Given the description of an element on the screen output the (x, y) to click on. 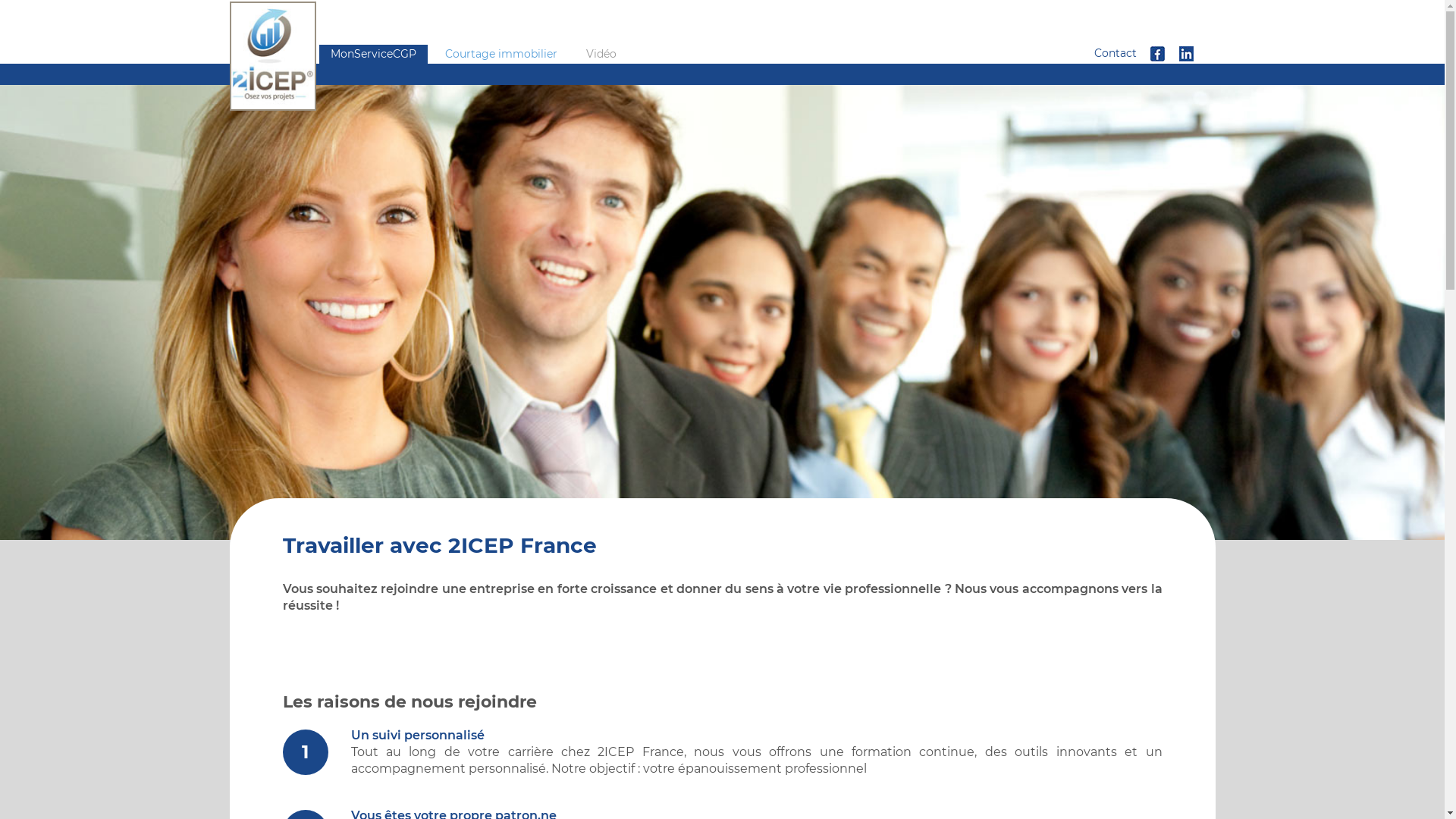
Courtage immobilier Element type: text (501, 53)
Contact Element type: text (1115, 52)
MonServiceCGP Element type: text (372, 53)
